Given the description of an element on the screen output the (x, y) to click on. 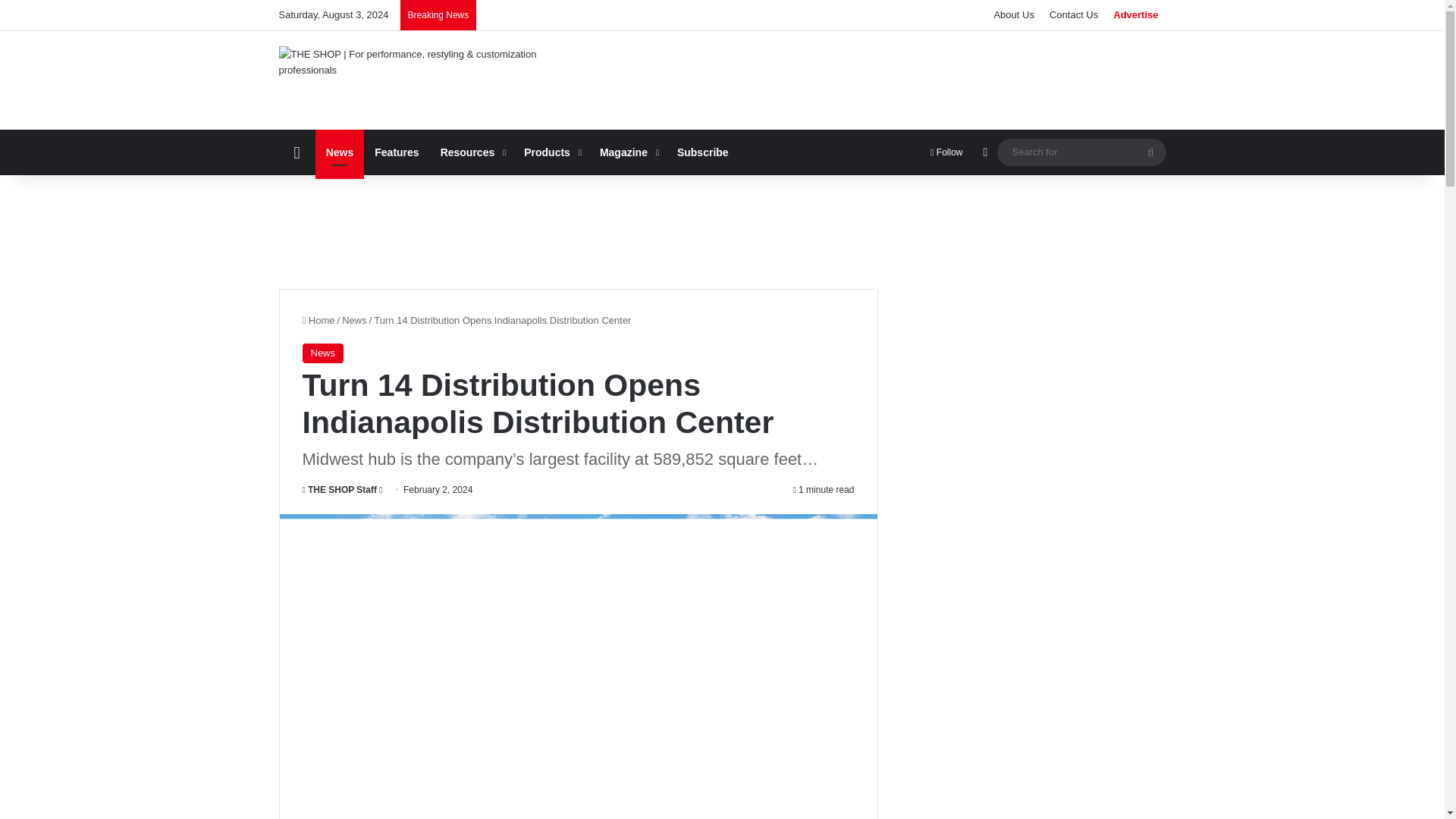
Subscribe (702, 152)
News (340, 152)
Magazine (627, 152)
Follow (946, 152)
Search for (1150, 152)
THE SHOP Staff (339, 489)
Search for (1080, 151)
News (322, 353)
News (354, 319)
Home (317, 319)
Features (396, 152)
Contact Us (1073, 15)
About Us (1013, 15)
Advertise (1135, 15)
Products (551, 152)
